Given the description of an element on the screen output the (x, y) to click on. 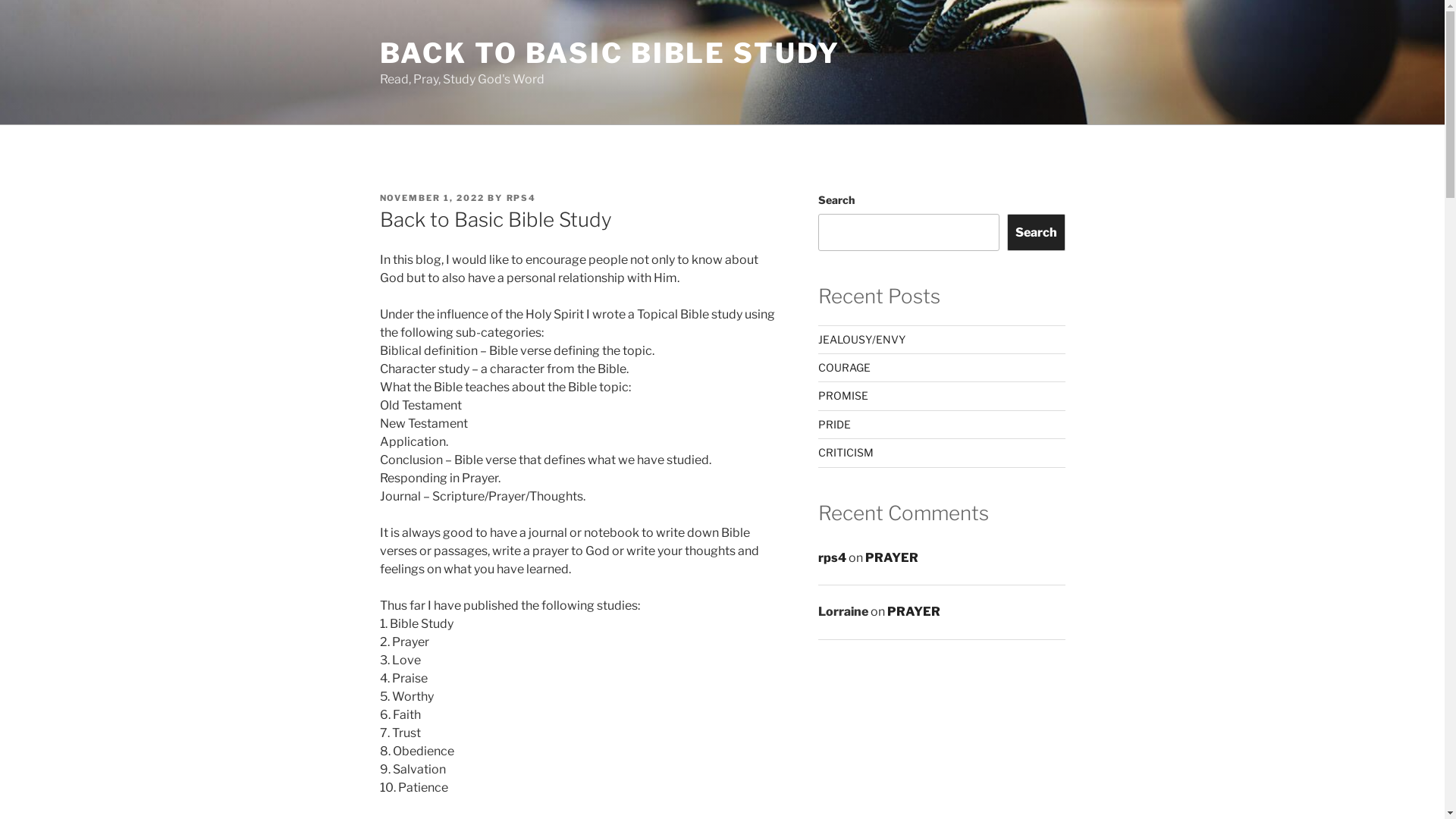
PRIDE Element type: text (834, 423)
rps4 Element type: text (832, 557)
JEALOUSY/ENVY Element type: text (861, 338)
RPS4 Element type: text (521, 197)
PRAYER Element type: text (913, 611)
Search Element type: text (1036, 231)
NOVEMBER 1, 2022 Element type: text (431, 197)
COURAGE Element type: text (844, 366)
CRITICISM Element type: text (845, 451)
PRAYER Element type: text (891, 557)
BACK TO BASIC BIBLE STUDY Element type: text (609, 52)
PROMISE Element type: text (843, 395)
